Given the description of an element on the screen output the (x, y) to click on. 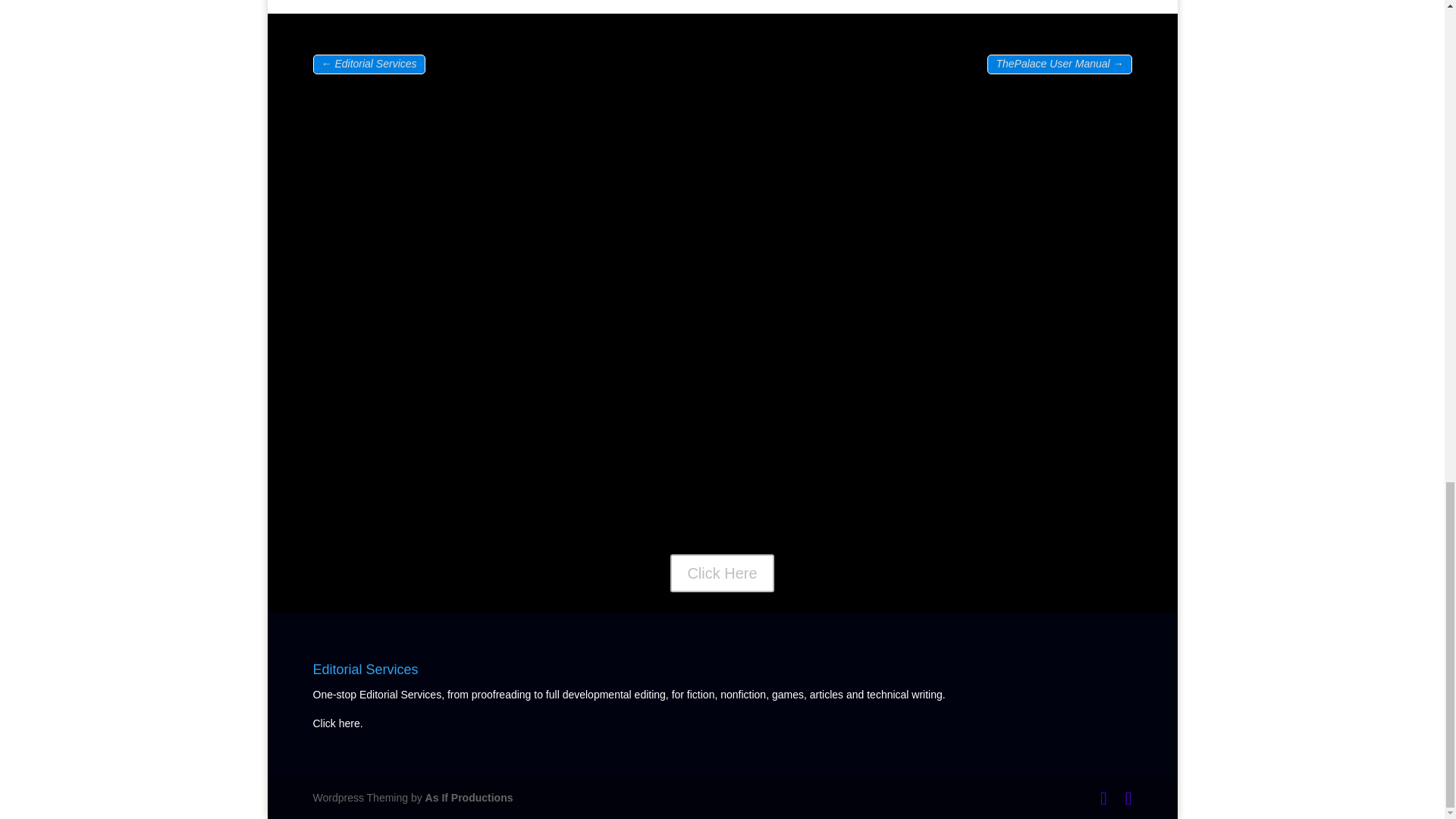
Click Here (721, 573)
Click here (336, 723)
As If Productions (469, 797)
